Given the description of an element on the screen output the (x, y) to click on. 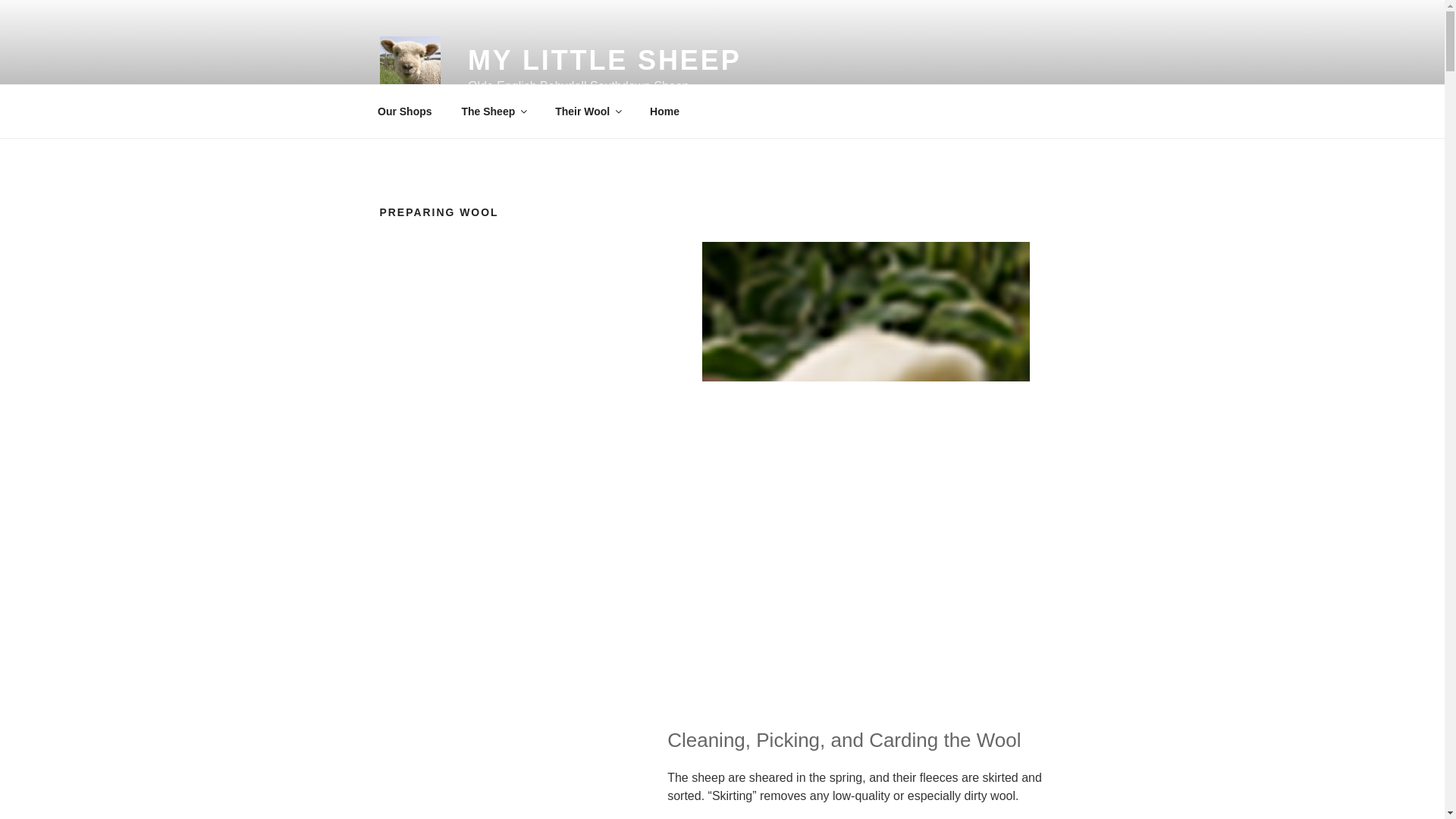
The Sheep (493, 110)
Their Wool (587, 110)
Our Shops (404, 110)
Home (665, 110)
MY LITTLE SHEEP (604, 60)
